Given the description of an element on the screen output the (x, y) to click on. 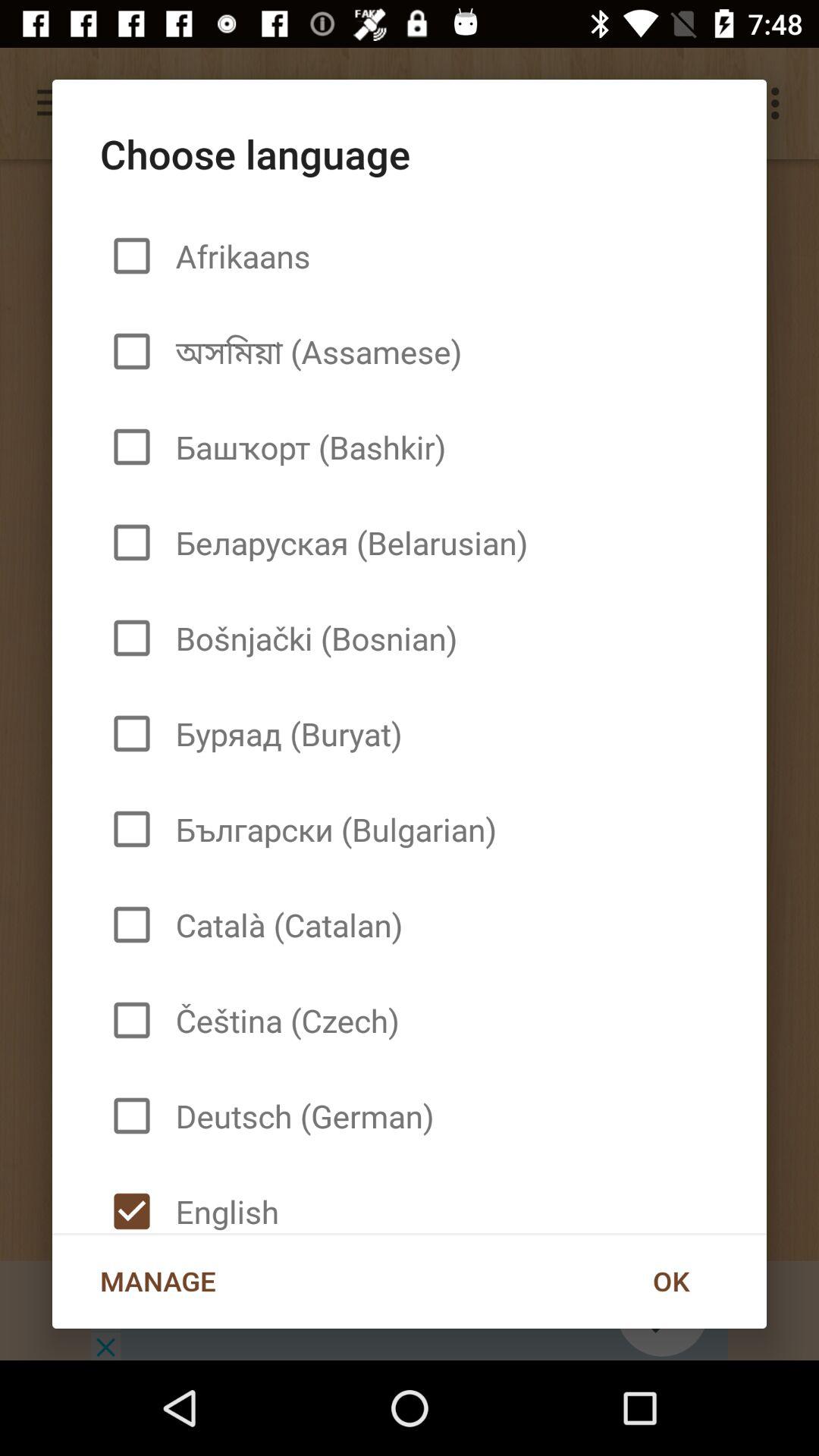
click the icon above manage icon (221, 1198)
